Given the description of an element on the screen output the (x, y) to click on. 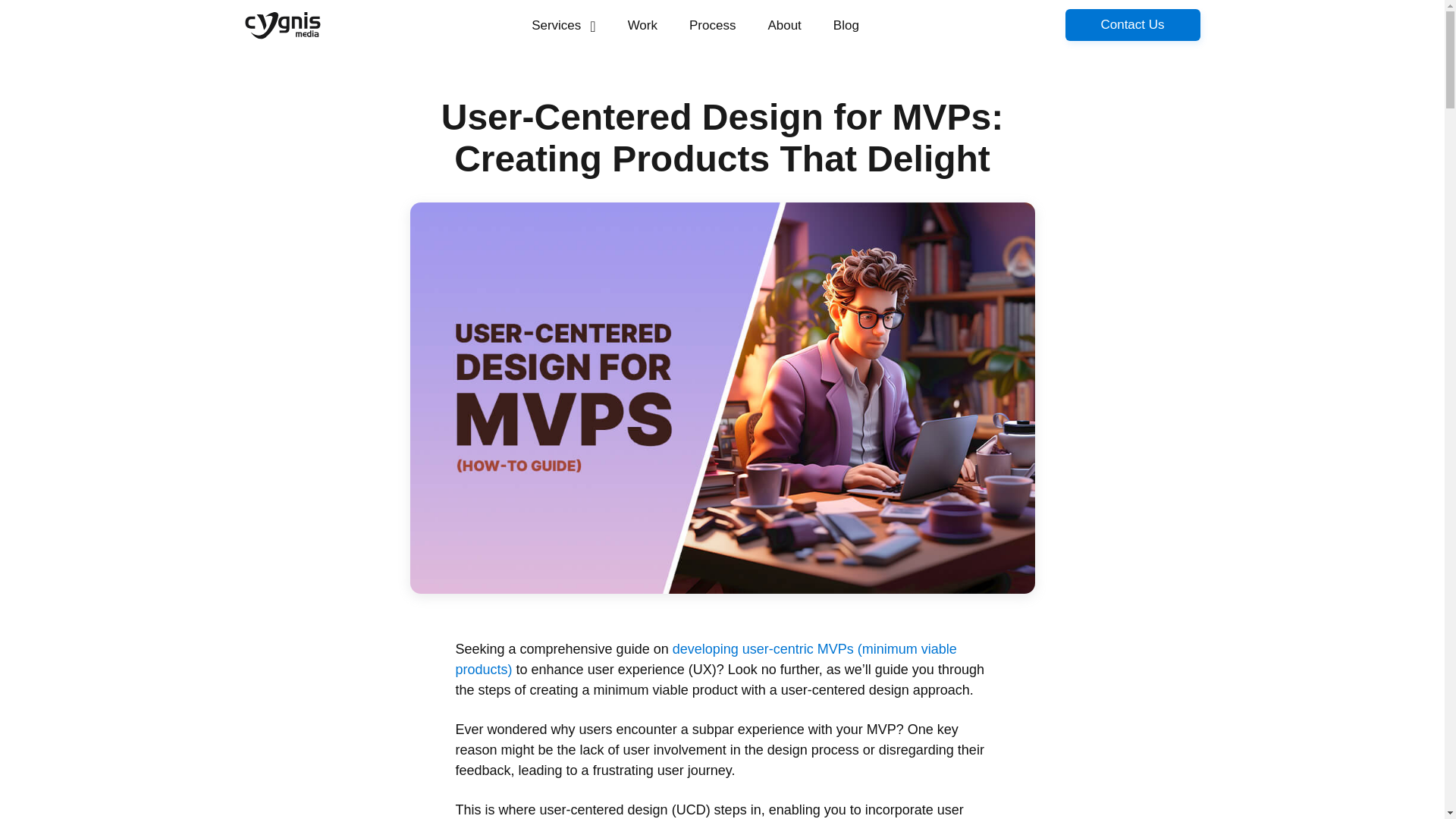
Case Studies (642, 25)
Process (712, 25)
Contact Us (1131, 24)
Blog (845, 25)
Cygnis Media (282, 25)
Services (563, 25)
Services (563, 25)
About Us (783, 25)
Contact Us (1131, 24)
About (783, 25)
